Given the description of an element on the screen output the (x, y) to click on. 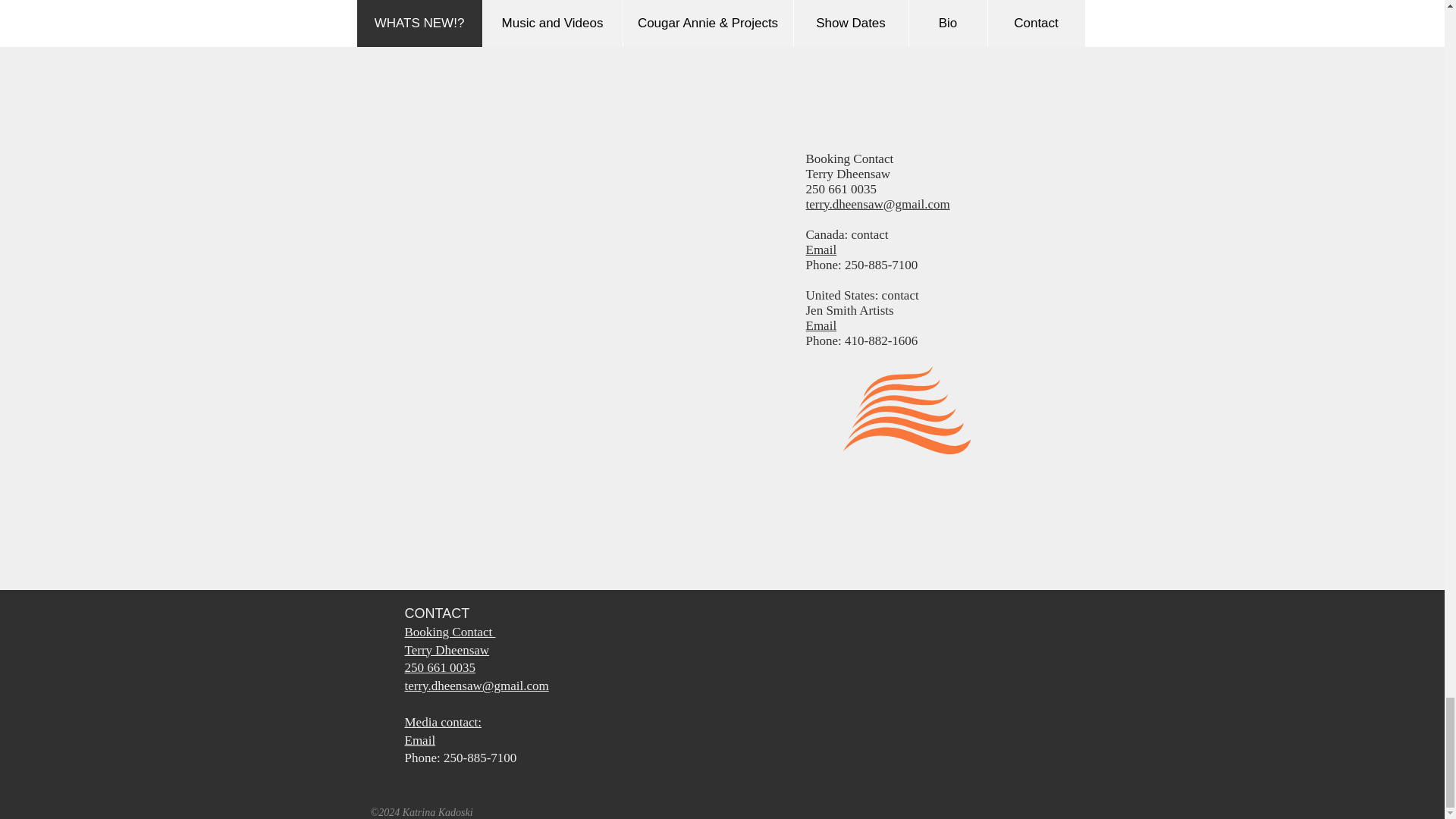
Terry Dheensaw (446, 649)
Email (419, 740)
Email (846, 256)
250 661 0035 (840, 188)
Canada: contact (846, 234)
Email (820, 325)
Booking Contact (849, 158)
Booking Contact  (450, 631)
Terry Dheensaw (847, 173)
Media contact: (442, 721)
250 661 0035 (440, 667)
